Given the description of an element on the screen output the (x, y) to click on. 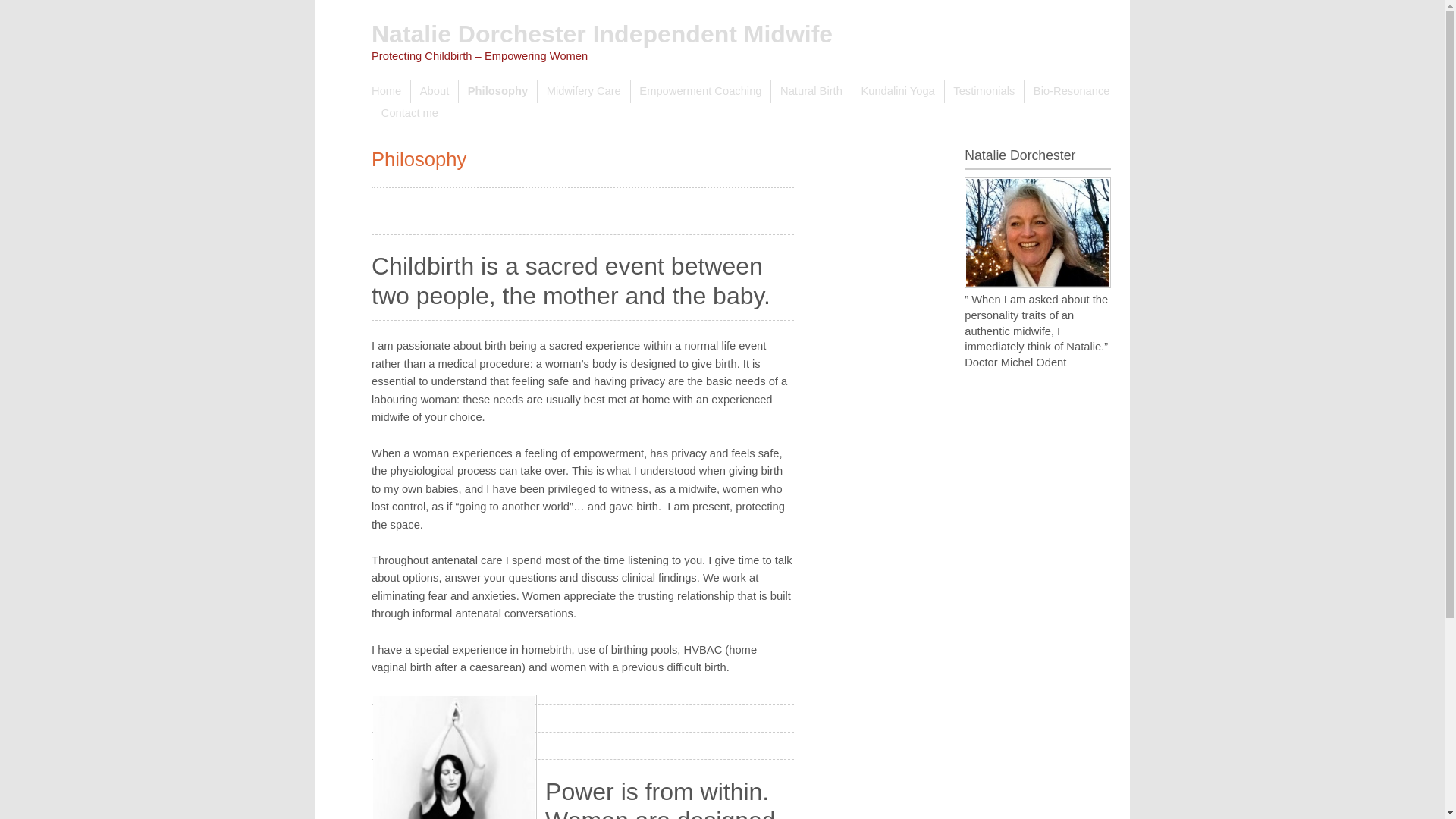
Home (390, 91)
Kundalini Yoga (897, 91)
Natalie Dorchester (1036, 232)
Empowerment Coaching (700, 91)
Natalie Dorchester Independent Midwife (601, 33)
Contact me (408, 114)
Midwifery Care (583, 91)
Philosophy (497, 91)
Natalie Dorchester Independent Midwife (601, 33)
Natural Birth (810, 91)
Bio-Resonance (1070, 91)
About (434, 91)
Testimonials (984, 91)
